Given the description of an element on the screen output the (x, y) to click on. 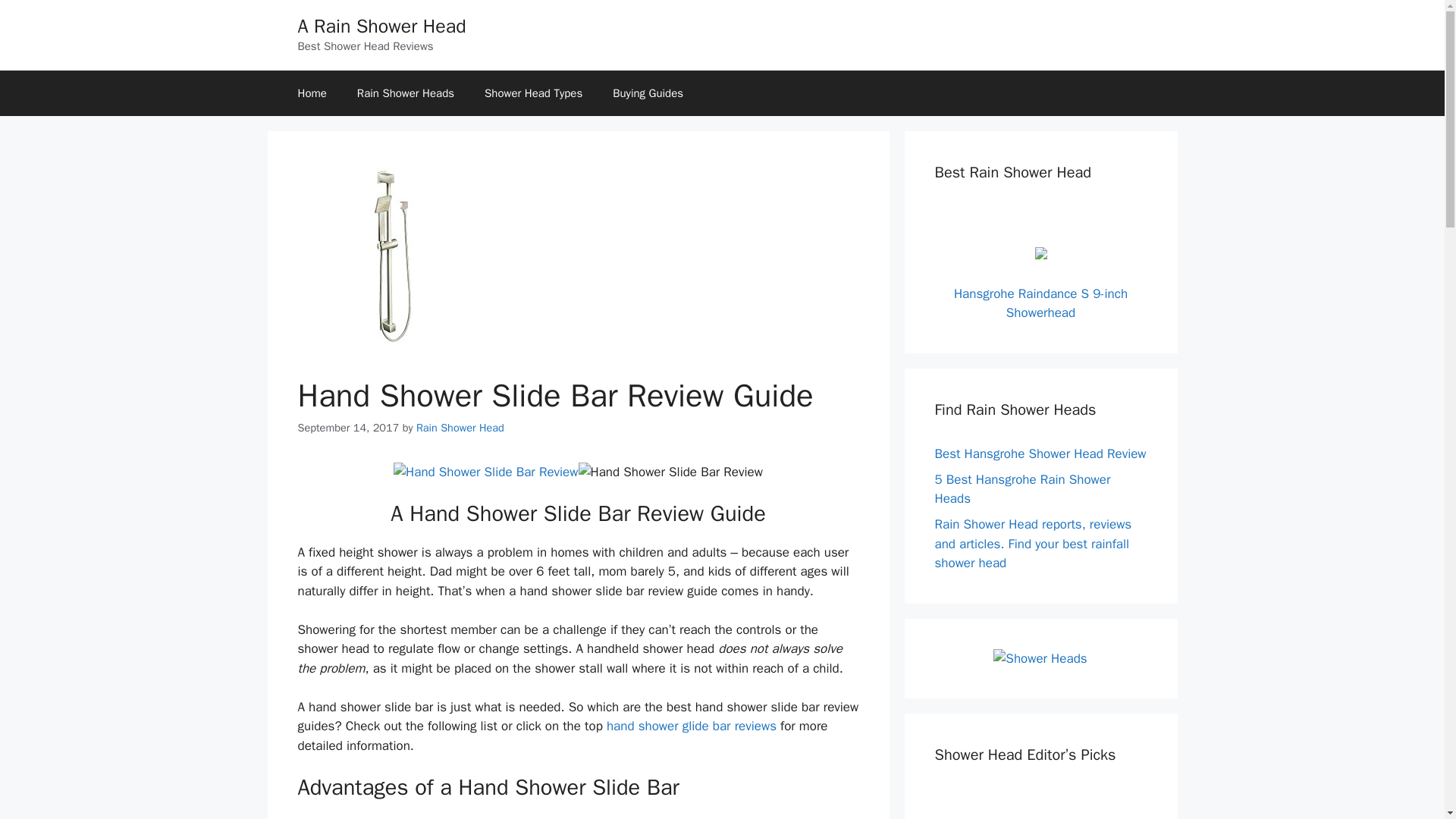
Best Hansgrohe Shower Head Review (1039, 453)
Rain Shower Head Buying Guides (647, 92)
Best Rain Shower Head Reviews (405, 92)
Hansgrohe Raindance S 9-inch Showerhead (1039, 303)
A Rain Shower Head (381, 25)
Rain Shower Head (459, 427)
hand shower glide bar reviews (691, 725)
5 Best Hansgrohe Rain Shower Heads (1021, 488)
Home (311, 92)
